Given the description of an element on the screen output the (x, y) to click on. 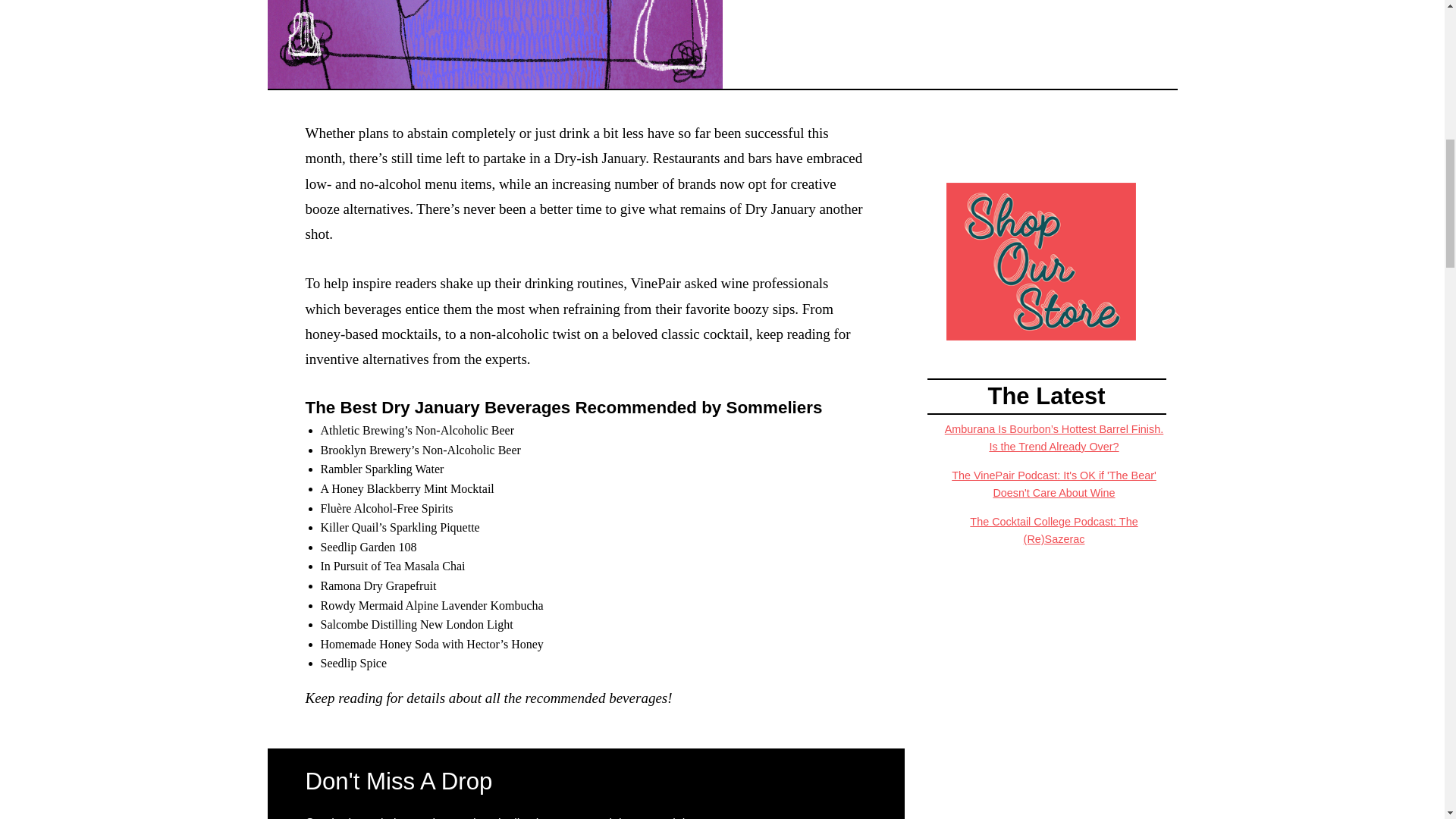
The VinePair Store (1040, 259)
We Asked 10 Somms: What Are You Drinking in Dry January? (494, 44)
